Given the description of an element on the screen output the (x, y) to click on. 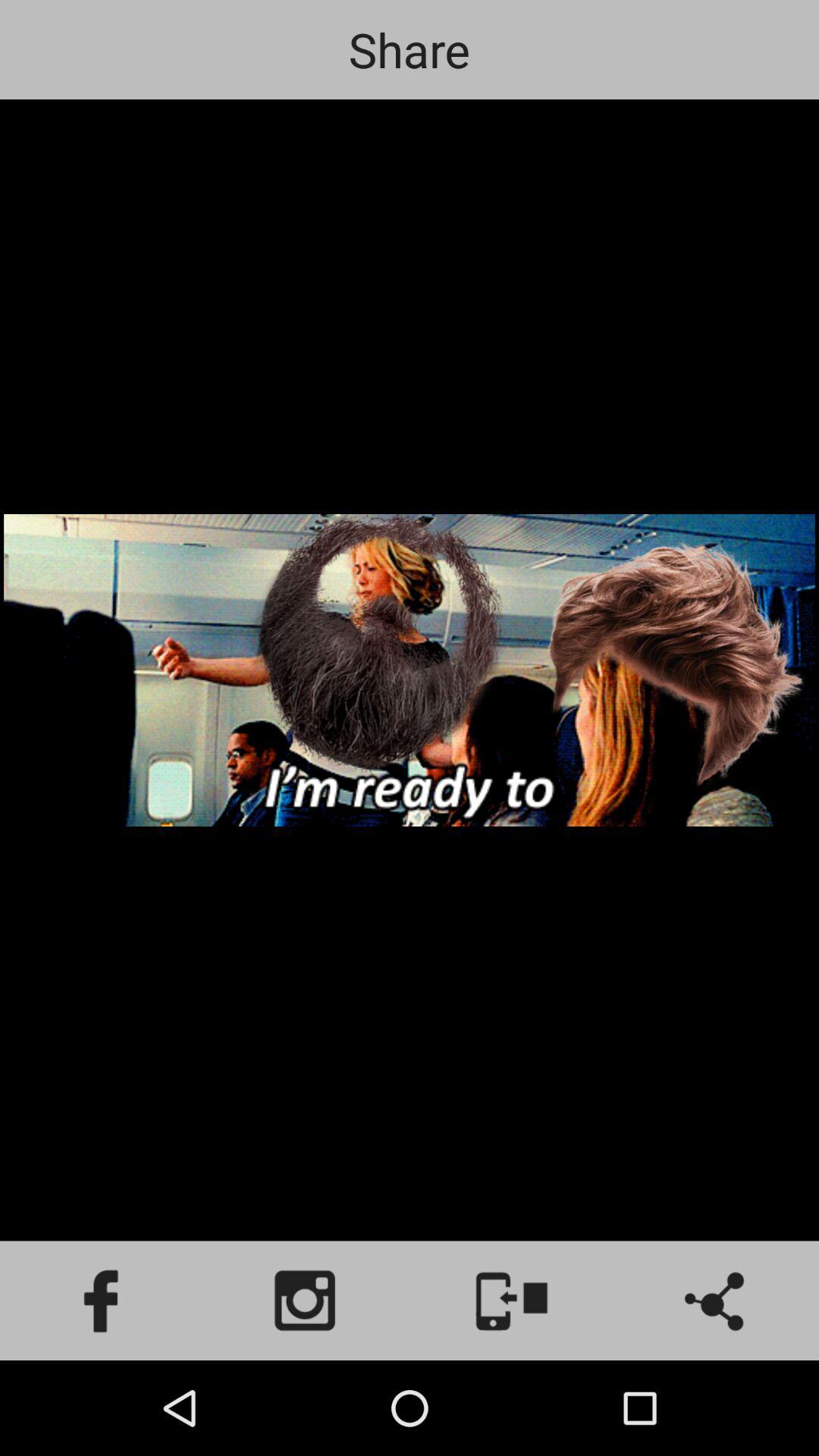
share (716, 1300)
